Given the description of an element on the screen output the (x, y) to click on. 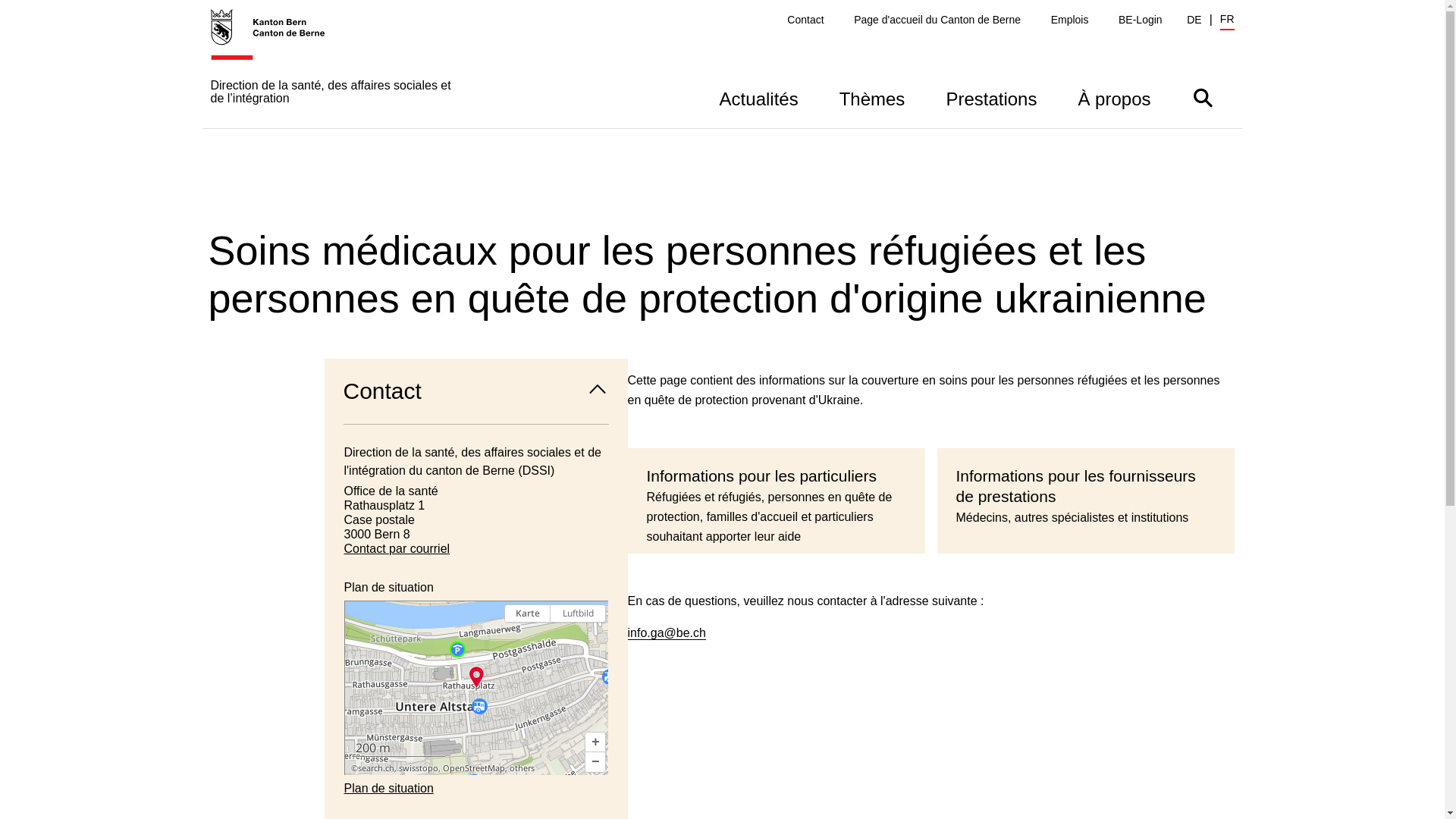
DE Element type: text (1193, 19)
FR Element type: text (1227, 21)
Contact par courriel Element type: text (476, 548)
Afficher/masquer la barre de recherche Element type: text (1201, 96)
Contact Element type: text (805, 19)
Plan de situation Element type: hover (476, 687)
info.ga@be.ch Element type: text (666, 633)
Contact Element type: text (475, 390)
Page d'accueil du Canton de Berne Element type: text (936, 19)
Emplois Element type: text (1069, 19)
Prestations Element type: text (991, 96)
BE-Login Element type: text (1140, 19)
Plan de situation Element type: text (476, 788)
